Given the description of an element on the screen output the (x, y) to click on. 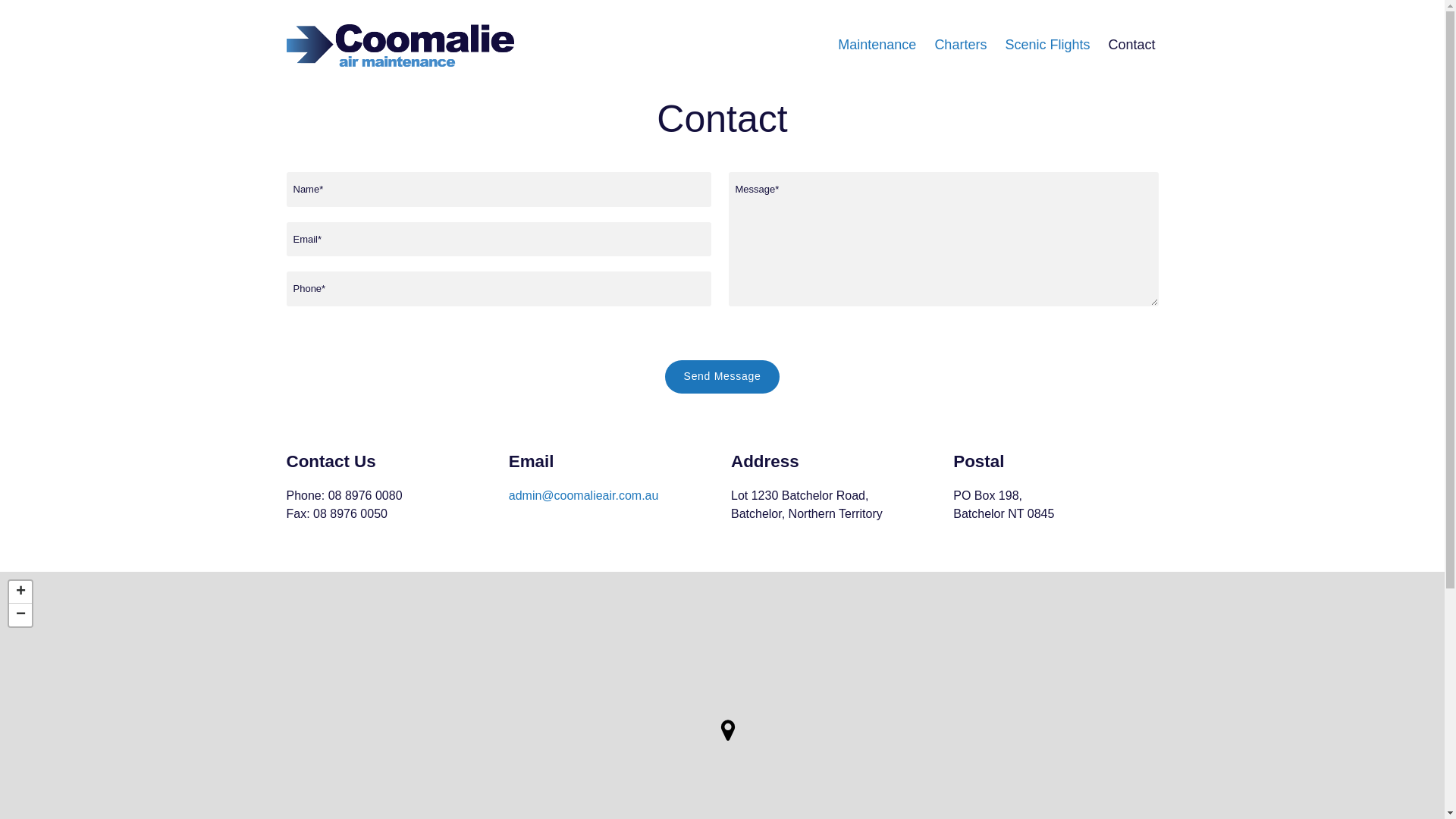
Contact Element type: text (1130, 44)
Maintenance Element type: text (876, 44)
+ Element type: text (20, 591)
Charters Element type: text (960, 44)
Scenic Flights Element type: text (1046, 44)
admin@coomalieair.com.au Element type: text (583, 495)
Send Message Element type: text (722, 376)
